Given the description of an element on the screen output the (x, y) to click on. 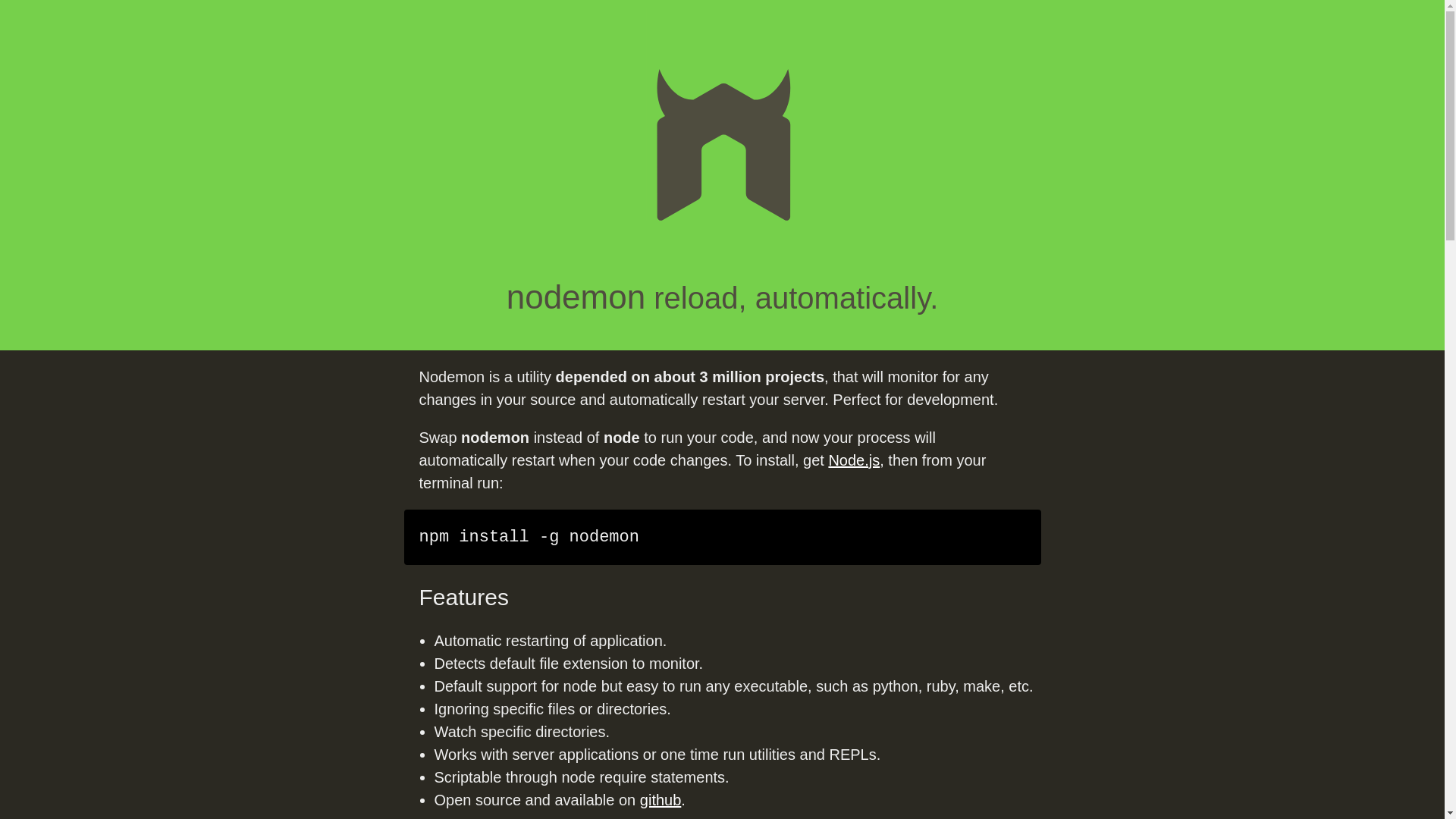
github (660, 799)
Node.js (853, 460)
